Given the description of an element on the screen output the (x, y) to click on. 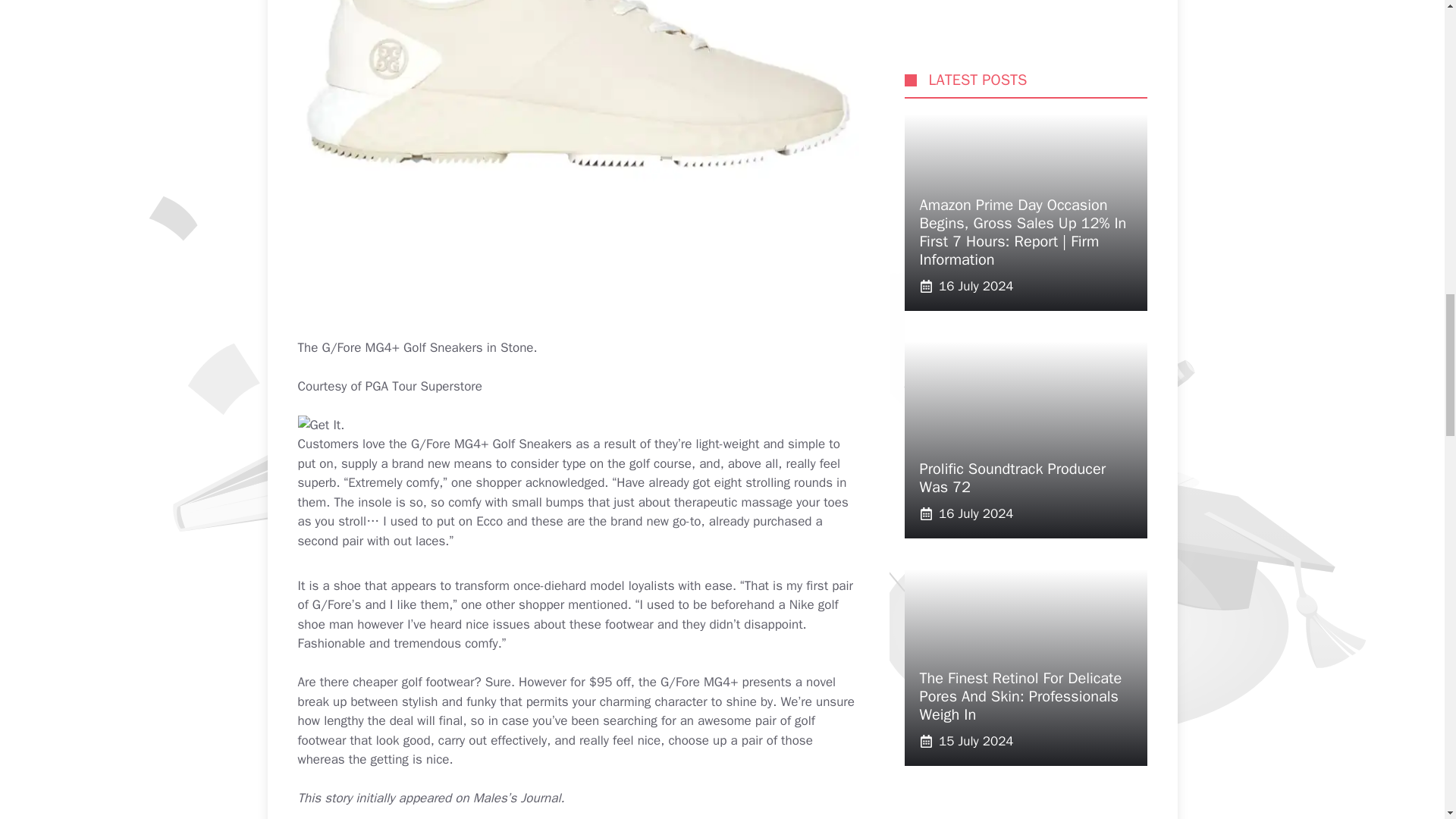
Courtesy of PGA Tour Superstore (389, 385)
